Given the description of an element on the screen output the (x, y) to click on. 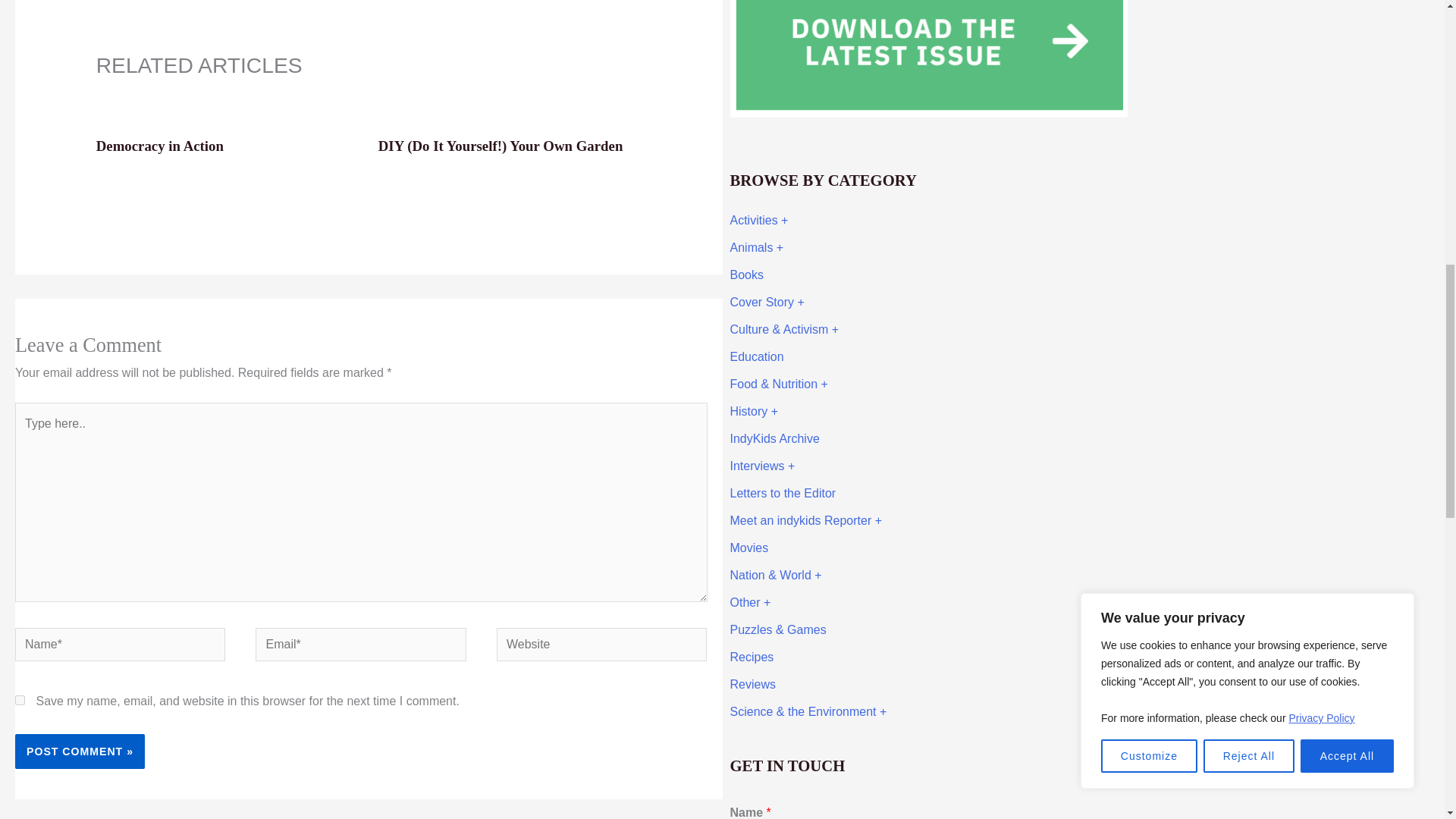
yes (19, 700)
